Given the description of an element on the screen output the (x, y) to click on. 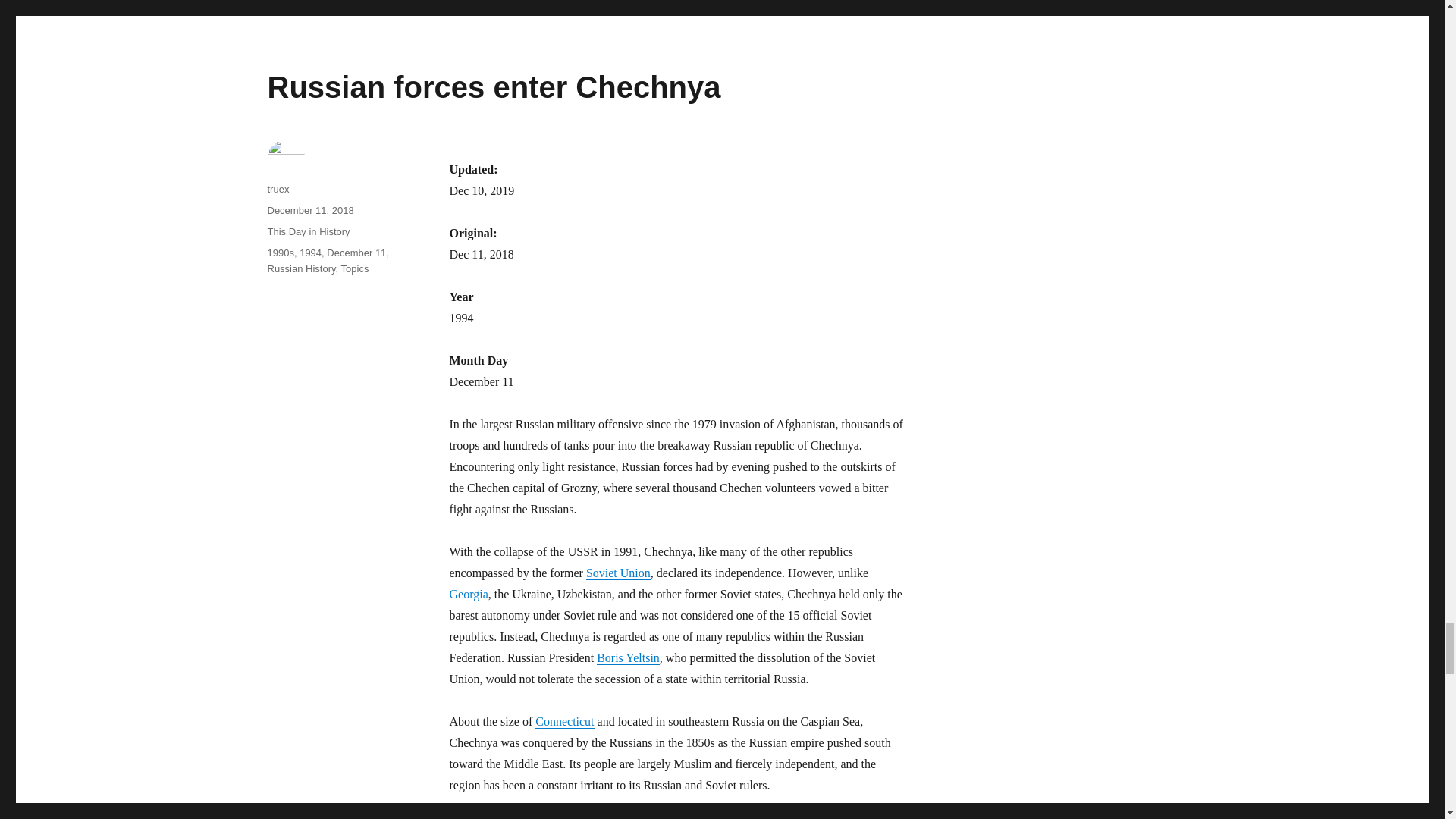
2018-12-11T16:01:33Z (480, 254)
2019-12-10T16:50:04Z (480, 190)
